Given the description of an element on the screen output the (x, y) to click on. 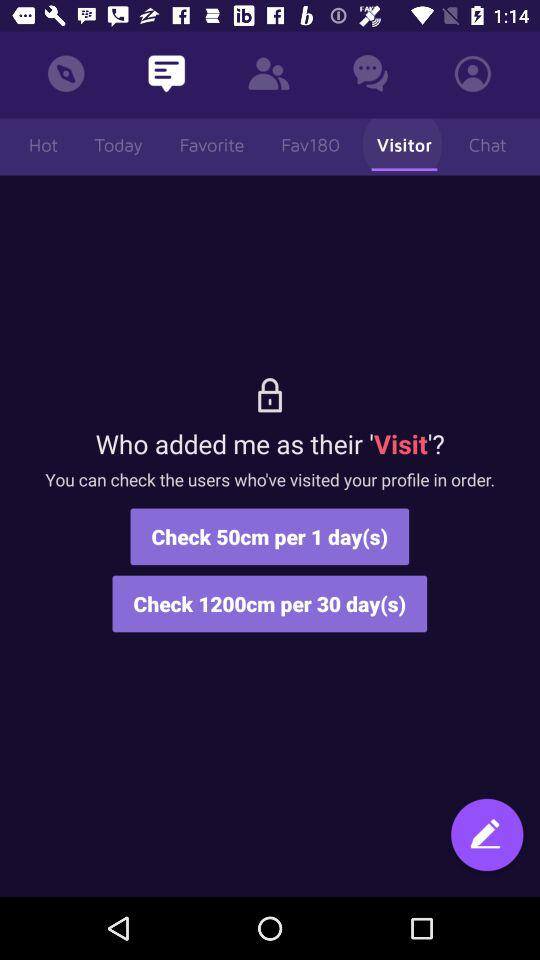
write a new post (487, 844)
